Given the description of an element on the screen output the (x, y) to click on. 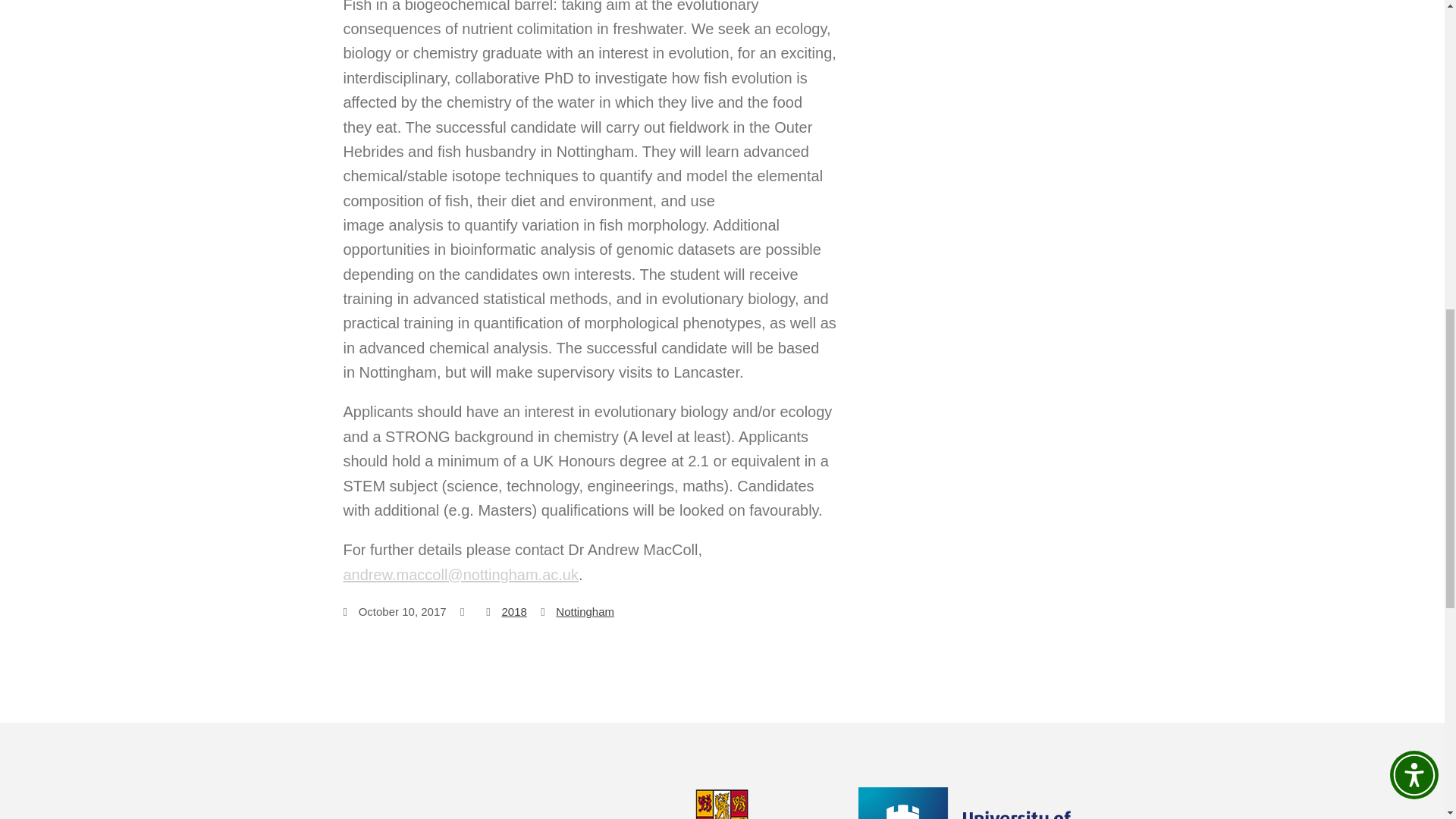
View all posts tagged Nottingham (585, 611)
View all posts in 2018 (512, 611)
